Given the description of an element on the screen output the (x, y) to click on. 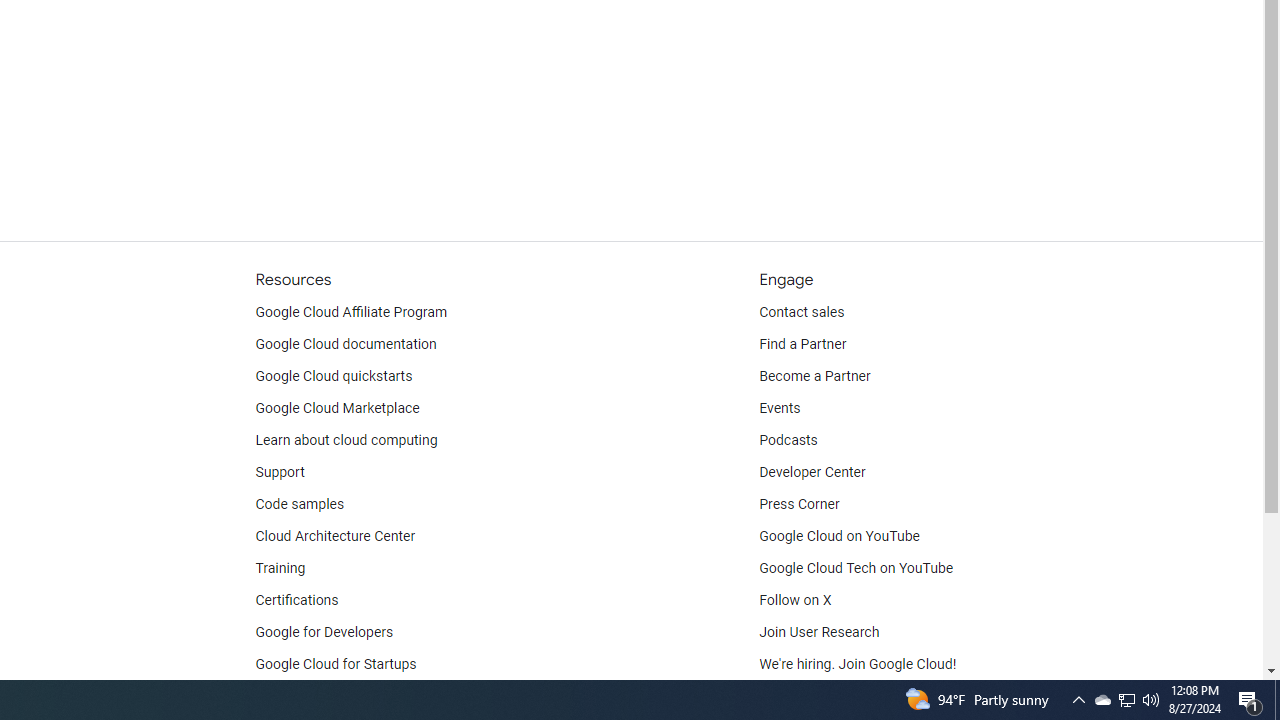
Google Cloud on YouTube (839, 536)
Google Cloud quickstarts (333, 376)
Find a Partner (803, 344)
Cloud Architecture Center (335, 536)
We're hiring. Join Google Cloud! (858, 664)
Google Cloud Tech on YouTube (856, 568)
Become a Partner (814, 376)
Google Cloud for Startups (335, 664)
Events (780, 408)
Google Cloud documentation (345, 344)
